Given the description of an element on the screen output the (x, y) to click on. 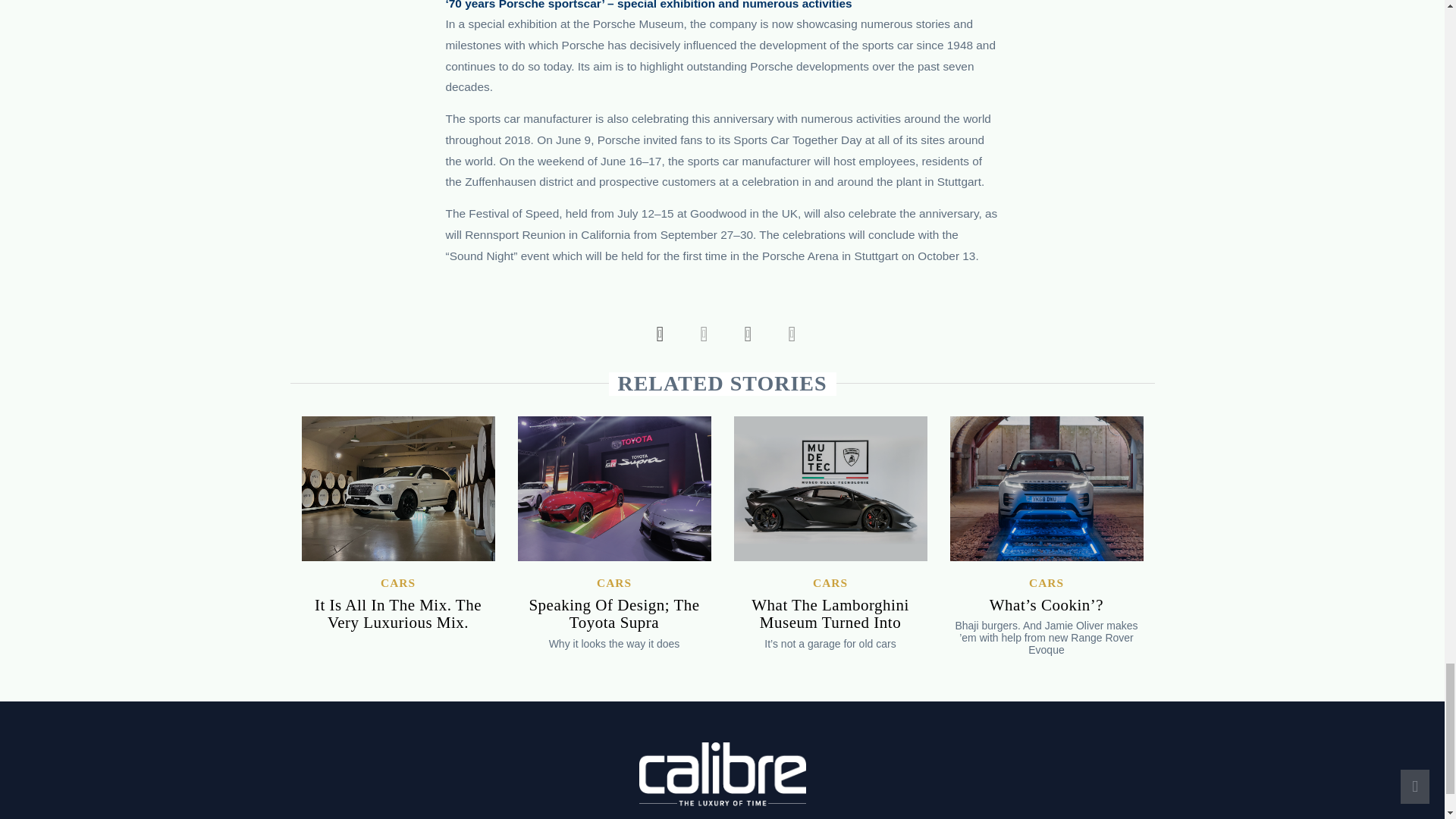
CARS (397, 582)
Twitter (699, 333)
Google Plus (743, 333)
Linked In (787, 333)
Facebook (655, 333)
